Given the description of an element on the screen output the (x, y) to click on. 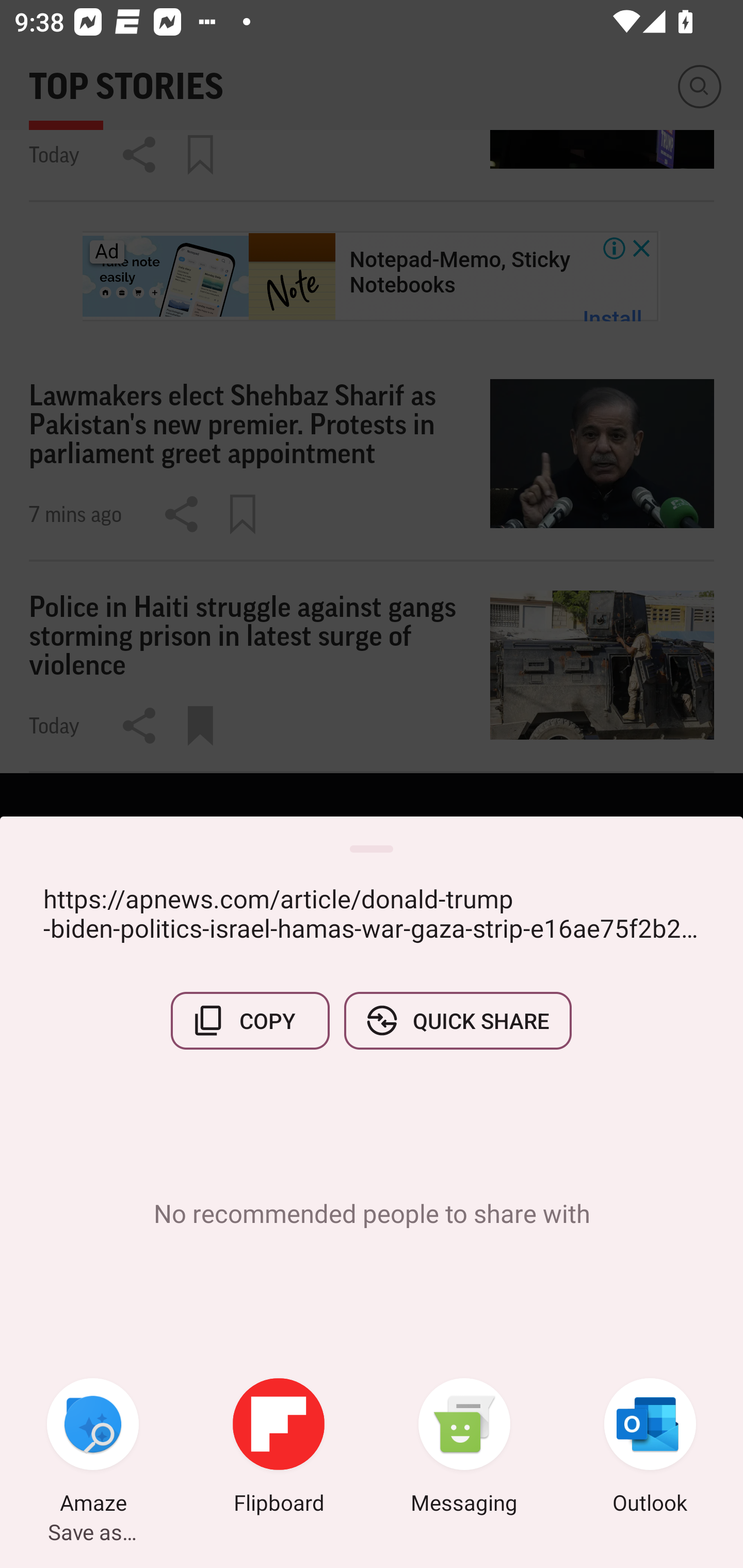
COPY (249, 1020)
QUICK SHARE (457, 1020)
Amaze Save as… (92, 1448)
Flipboard (278, 1448)
Messaging (464, 1448)
Outlook (650, 1448)
